Given the description of an element on the screen output the (x, y) to click on. 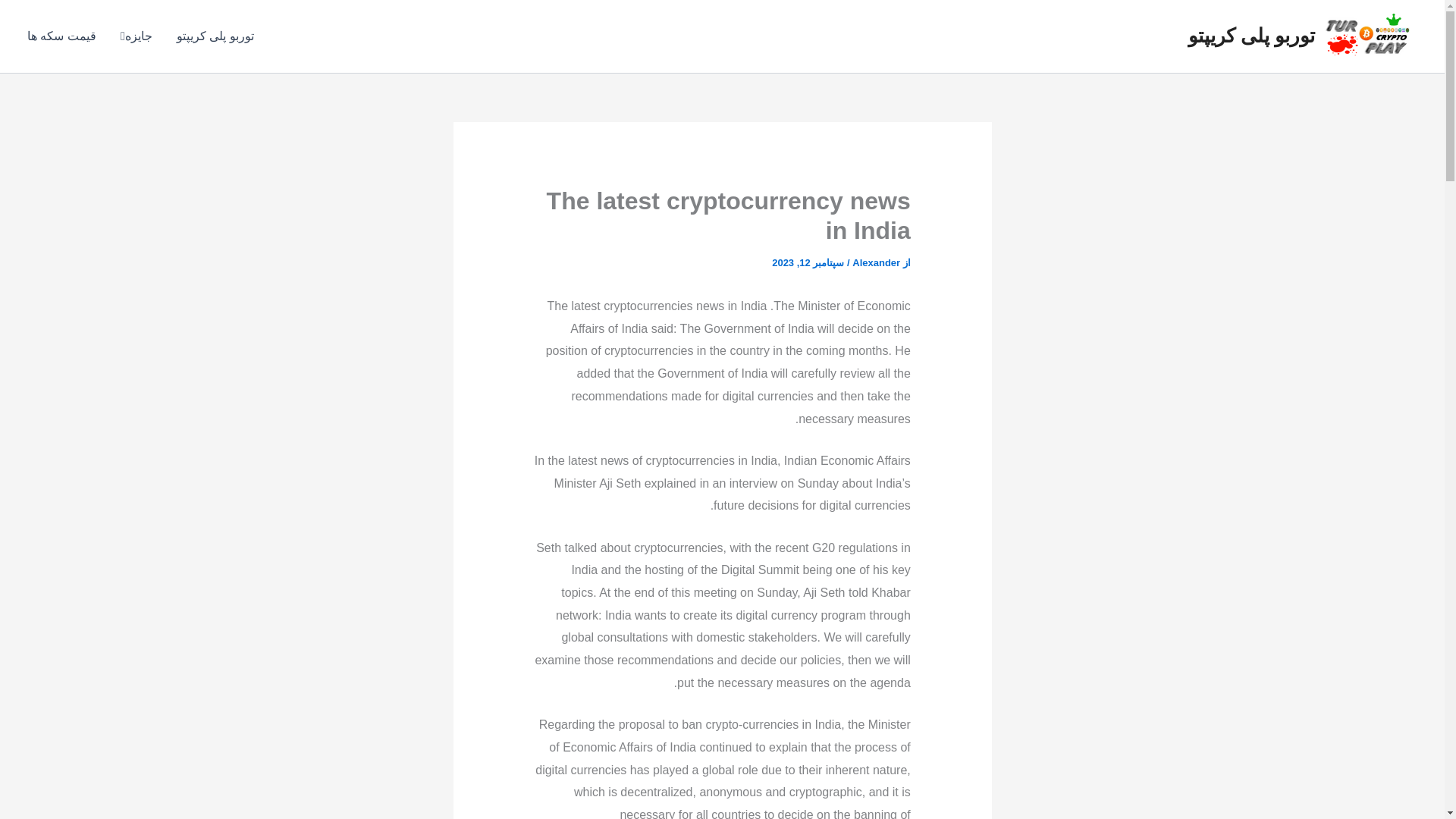
Alexander (875, 262)
